Given the description of an element on the screen output the (x, y) to click on. 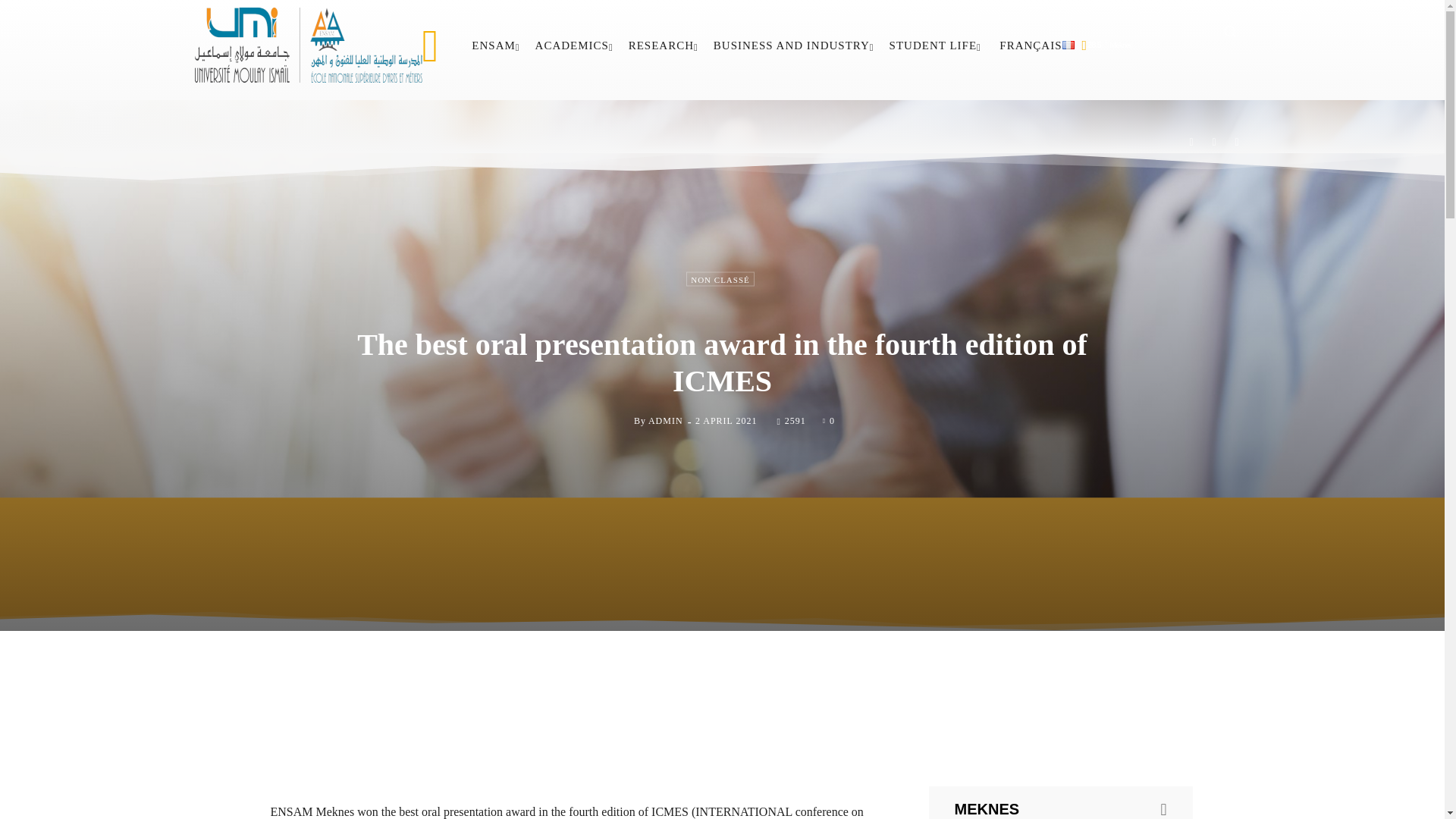
Admin (621, 420)
Twitter (1237, 141)
ACADEMICS (574, 44)
ENSAM (495, 44)
Facebook (1191, 141)
Instagram (1214, 141)
